Given the description of an element on the screen output the (x, y) to click on. 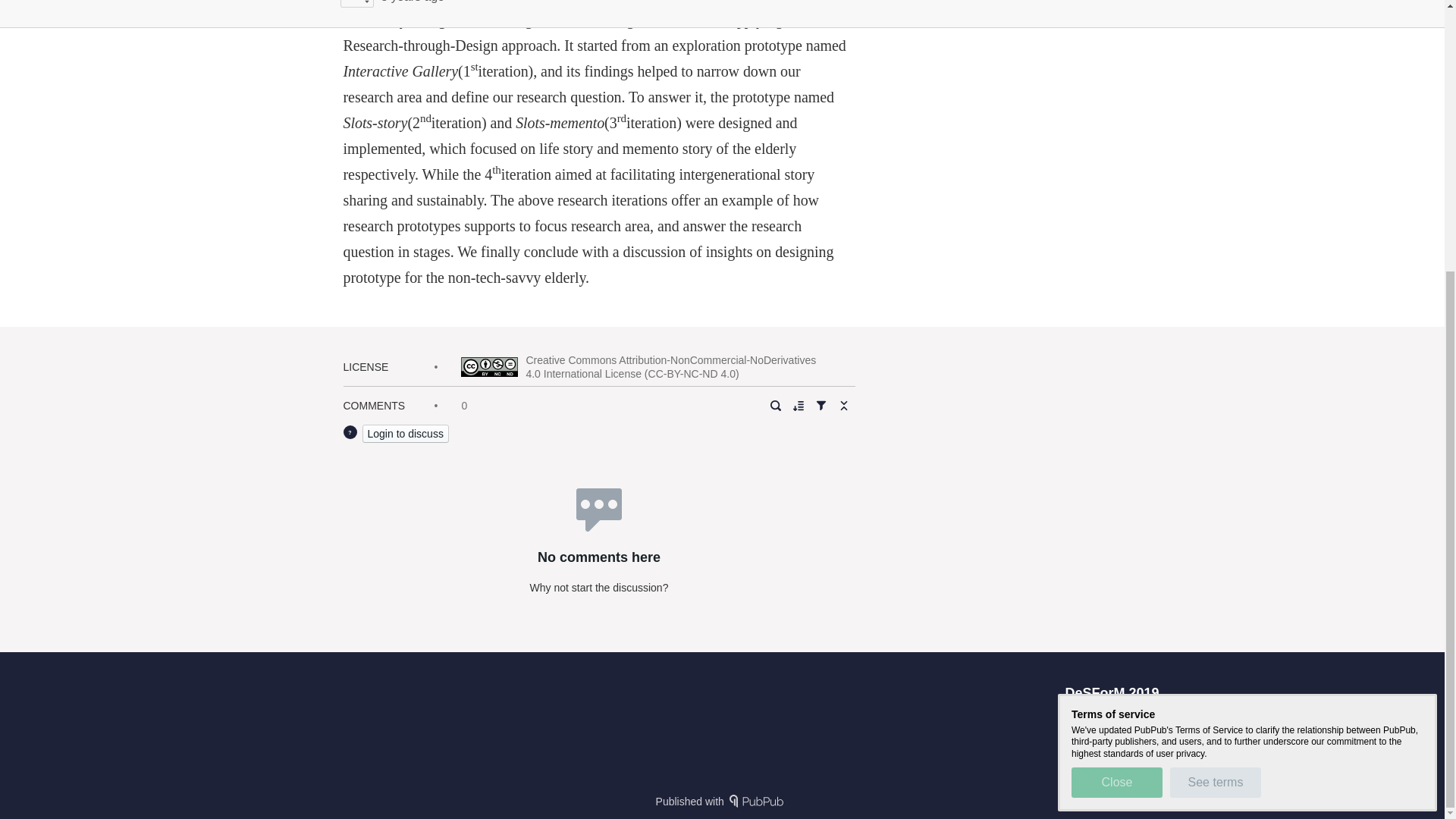
See terms (1215, 386)
Published with (722, 801)
Legal (1145, 719)
Login to discuss (405, 434)
RSS (1104, 719)
Close (1116, 386)
DeSForM 2019 (1111, 693)
